Given the description of an element on the screen output the (x, y) to click on. 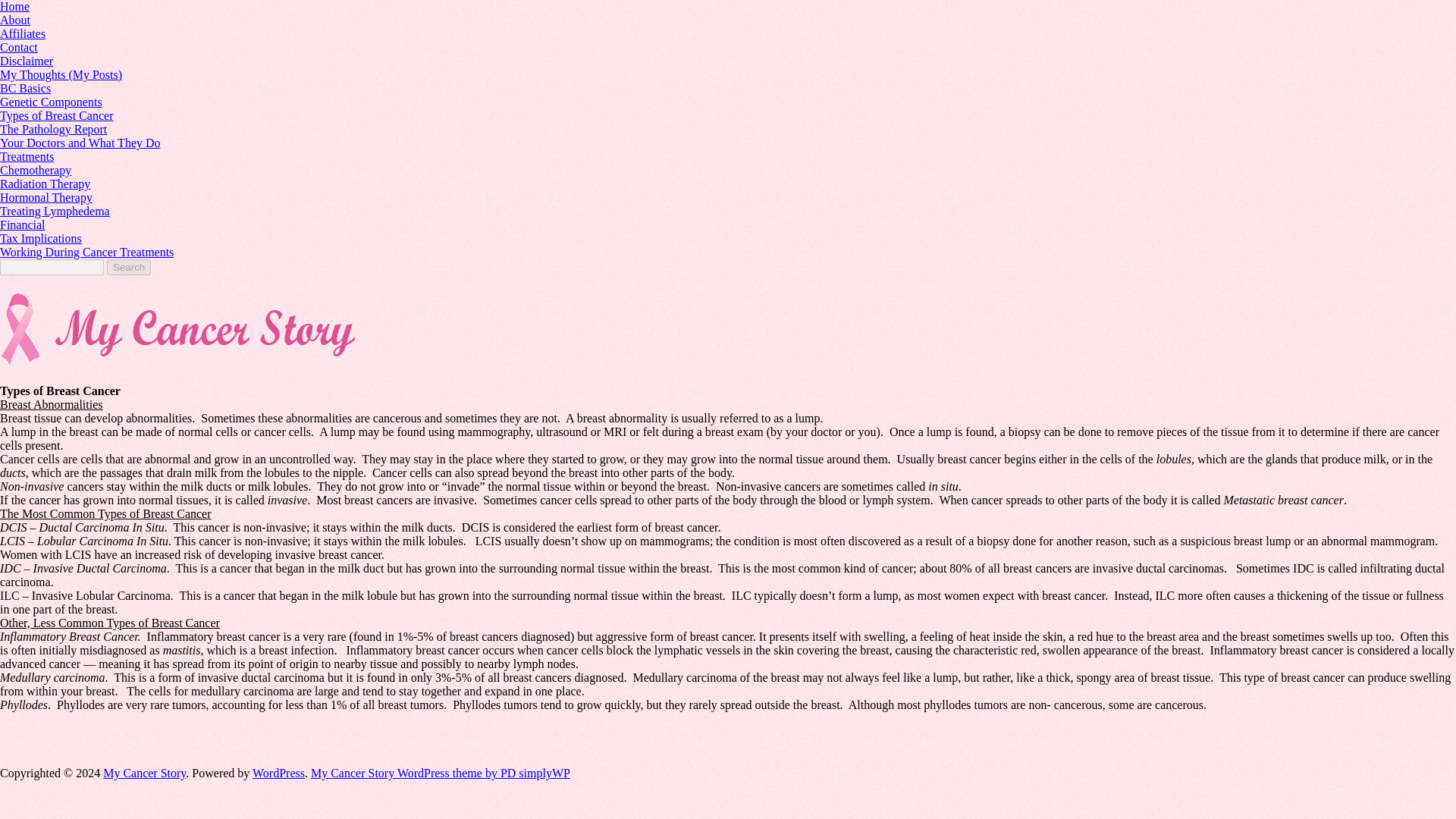
Treatments (26, 155)
Your Doctors and What They Do (80, 142)
Financial (22, 224)
Working During Cancer Treatments (86, 251)
Chemotherapy (35, 169)
Treating Lymphedema (55, 210)
My Cancer Story WordPress theme by PD simplyWP (440, 772)
Search... (51, 267)
BC Basics (25, 88)
Hormonal Therapy (46, 196)
